Given the description of an element on the screen output the (x, y) to click on. 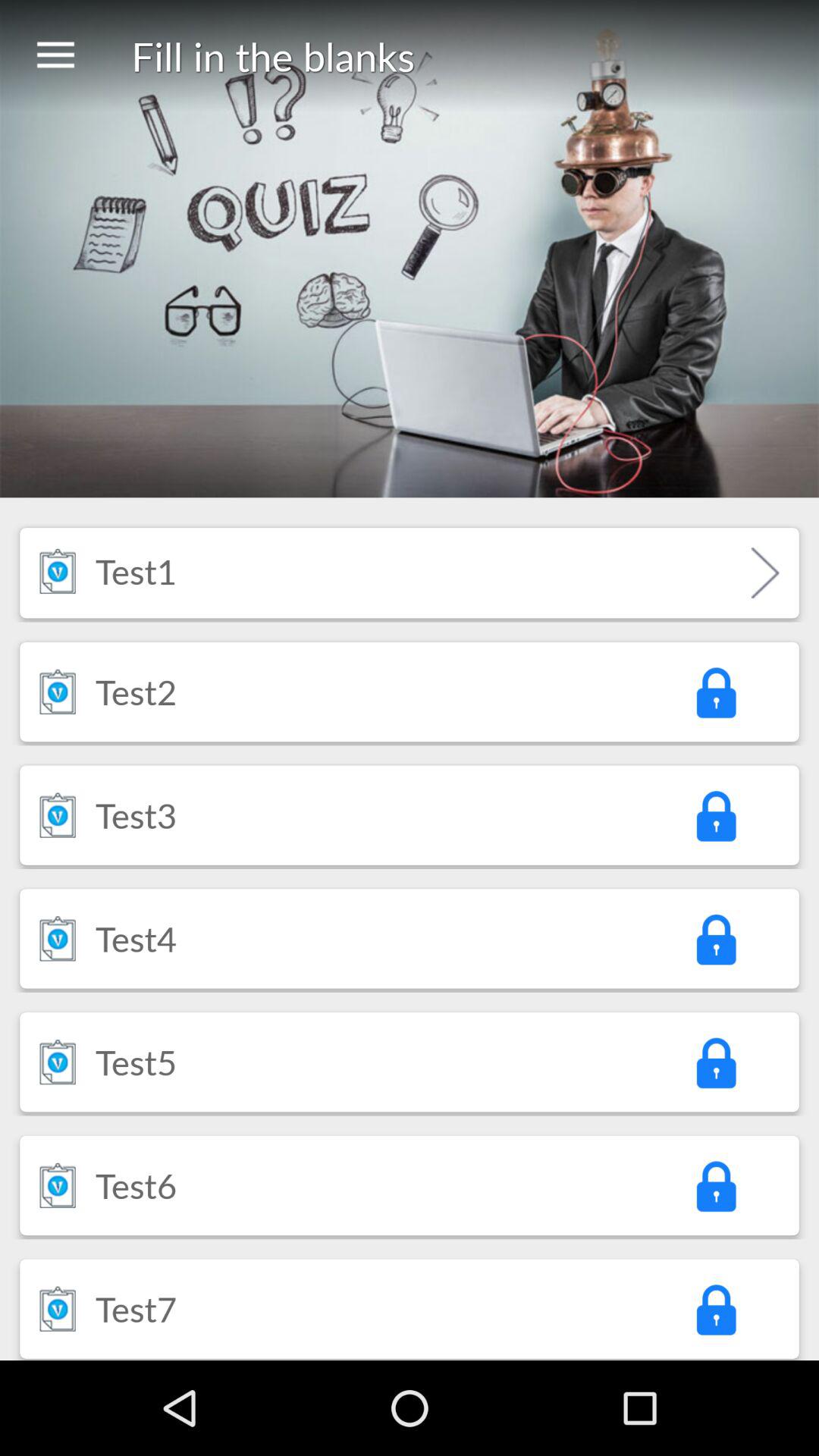
choose icon to the left of fill in the icon (55, 55)
